Given the description of an element on the screen output the (x, y) to click on. 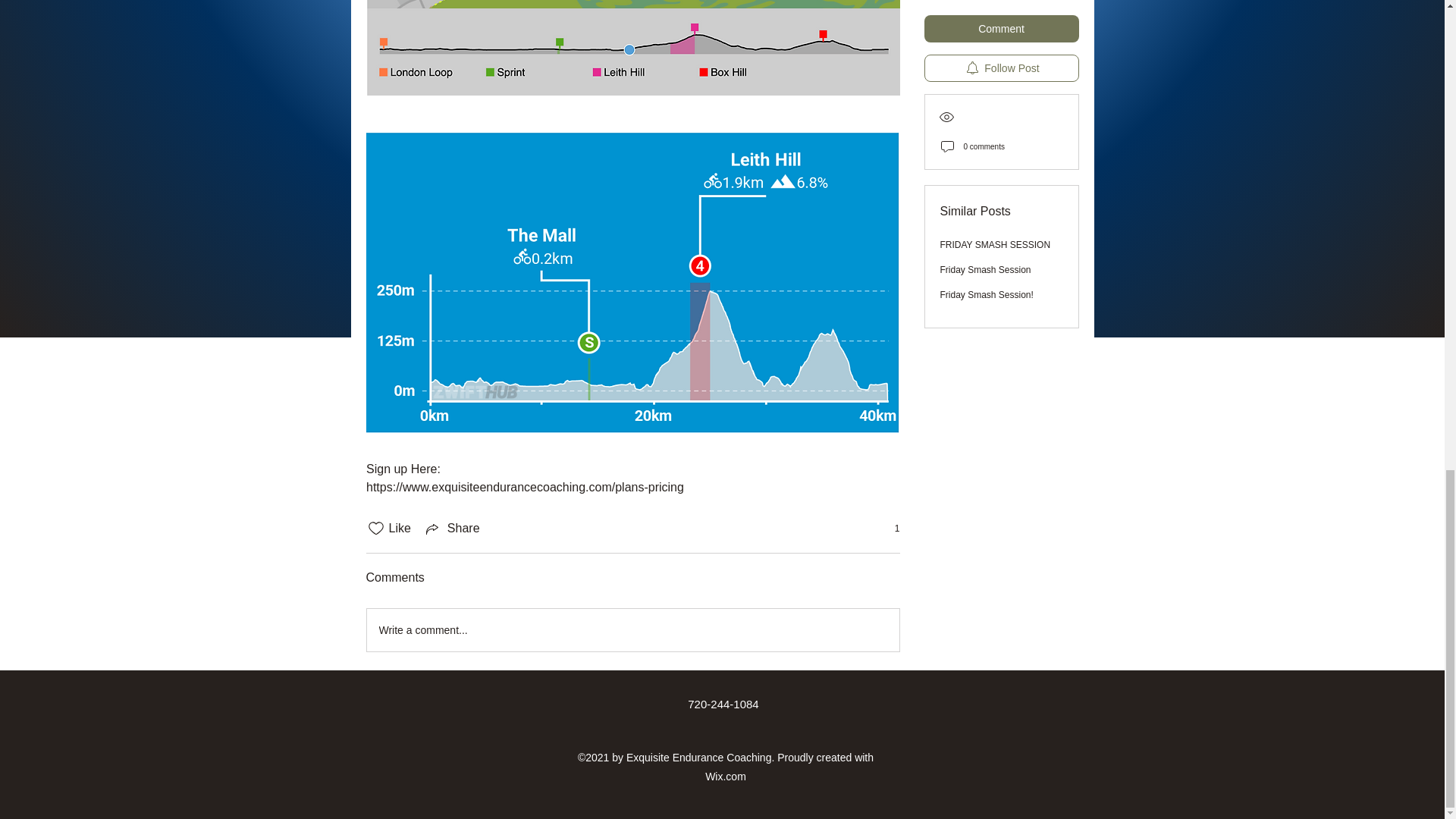
Share (451, 528)
Write a comment... (632, 630)
1 (888, 528)
